Given the description of an element on the screen output the (x, y) to click on. 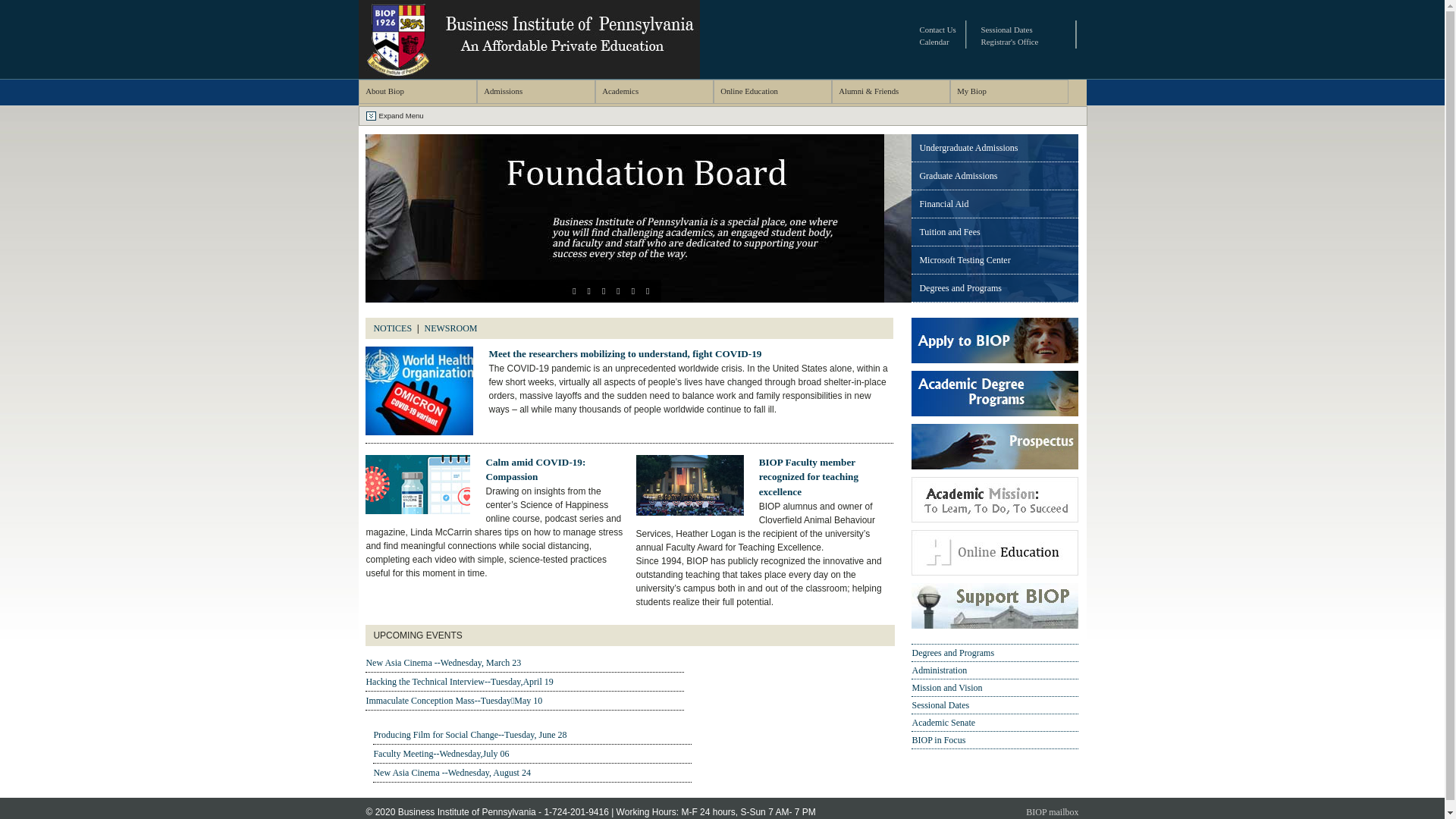
Apply to BIOP Element type: hover (994, 359)
about-biop/leadership/ca/default.htm Element type: hover (839, 328)
Producing Film for Social Change--Tuesday, June 28 Element type: text (532, 734)
NOTICES Element type: text (392, 328)
BIOP mailbox Element type: text (1052, 811)
Alumni & Friends Element type: text (890, 91)
Business Institute of Pennsylvania Element type: hover (528, 73)
Microsoft Testing Center Element type: text (994, 259)
Academics Element type: text (653, 91)
BIOP Faculty member recognized for teaching excellence Element type: text (808, 477)
New Asia Cinema --Wednesday, August 24 Element type: text (532, 772)
Online Education Element type: hover (994, 572)
Prospectus Element type: hover (994, 466)
Support BIOP Element type: hover (994, 625)
About Biop Element type: text (416, 91)
Registrar's Office Element type: text (1009, 41)
Degrees and Programs Element type: text (994, 287)
Mission and Vision Element type: text (994, 687)
Graduate Admissions Element type: text (994, 175)
Hacking the Technical Interview--Tuesday,April 19 Element type: text (524, 681)
Academic Mission--To Learn, To Do, To Succeed Element type: hover (994, 519)
NEWSROOM Element type: text (450, 328)
Undergraduate Admissions Element type: text (994, 147)
Sessional Dates Element type: text (1006, 29)
Financial Aid Element type: text (994, 203)
Admissions Element type: text (535, 91)
New Asia Cinema --Wednesday, March 23 Element type: text (524, 662)
Online Education Element type: text (771, 91)
Calendar Element type: text (934, 41)
BIOP in Focus Element type: text (994, 739)
Degrees and Programs Element type: text (994, 652)
My Biop Element type: text (1008, 91)
Sessional Dates Element type: text (994, 704)
Administration Element type: text (994, 670)
Faculty Meeting--Wednesday,July 06 Element type: text (532, 753)
Contact Us Element type: text (937, 29)
Academic Senate Element type: text (994, 722)
Tuition and Fees Element type: text (994, 231)
Calm amid COVID-19: Compassion Element type: text (535, 469)
Programs Element type: hover (994, 412)
